Given the description of an element on the screen output the (x, y) to click on. 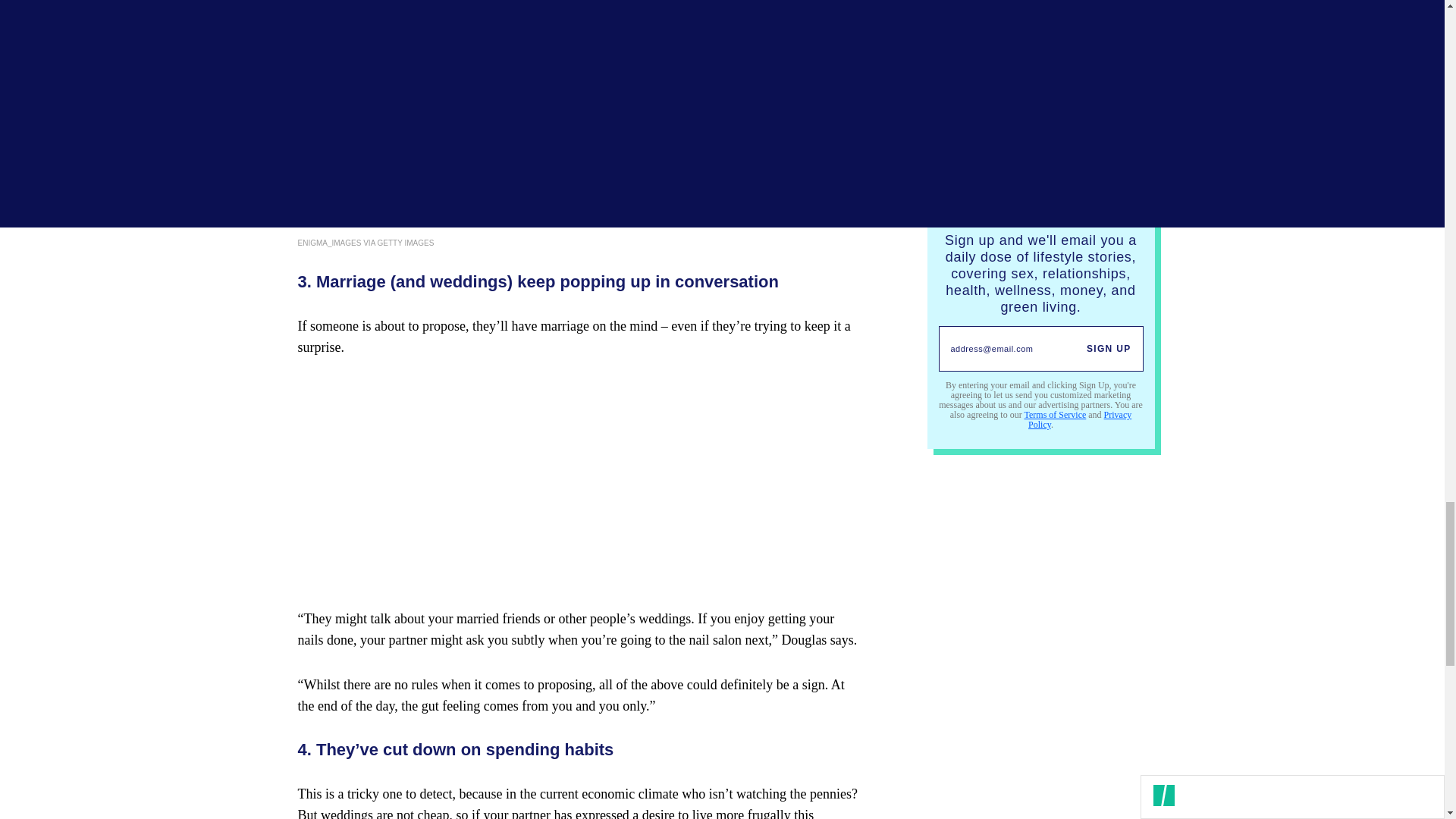
SIGN UP (1108, 348)
